Given the description of an element on the screen output the (x, y) to click on. 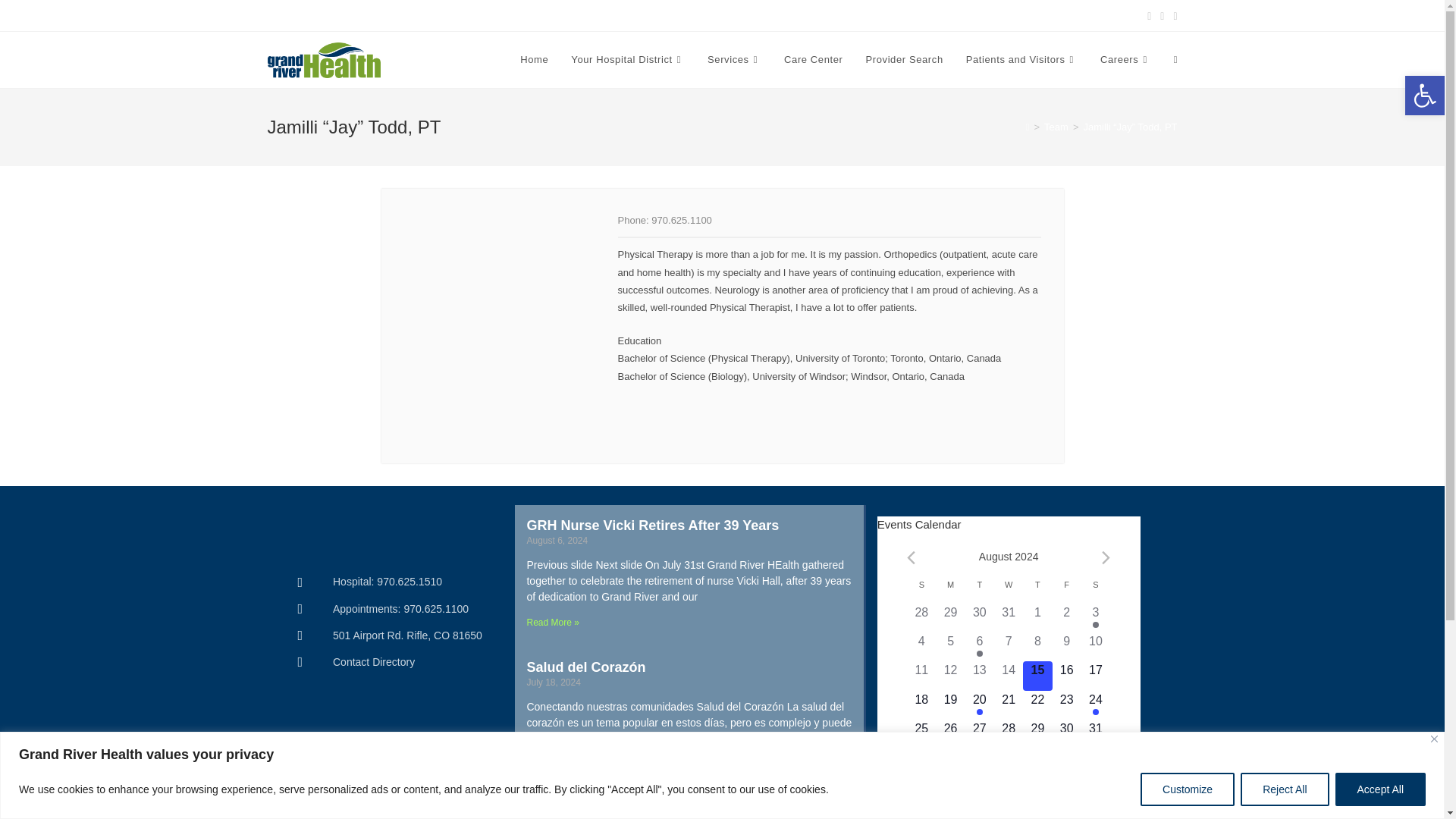
Has events (1096, 624)
Reject All (1283, 788)
Home (533, 59)
Accept All (1380, 788)
970-625-1100 (582, 15)
Contact Information (670, 15)
Has events (979, 653)
Your Hospital District (627, 59)
Customize (1187, 788)
Patient Portal (757, 15)
